Given the description of an element on the screen output the (x, y) to click on. 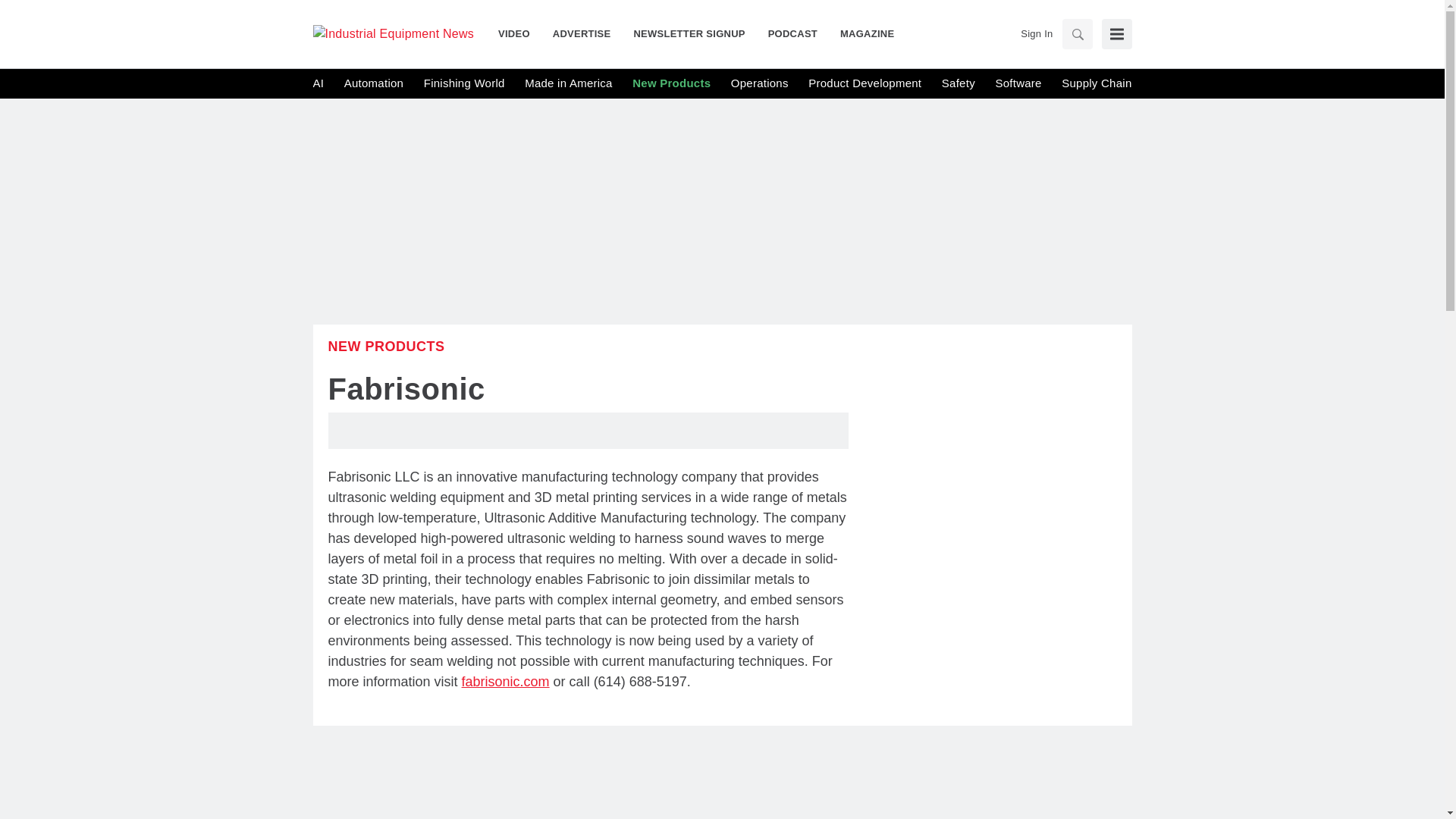
New Products (385, 346)
VIDEO (519, 33)
Sign In (1036, 33)
Safety (958, 83)
Operations (759, 83)
Software (1017, 83)
Made in America (567, 83)
New Products (670, 83)
NEWSLETTER SIGNUP (688, 33)
Product Development (864, 83)
PODCAST (792, 33)
Automation (373, 83)
AI (318, 83)
ADVERTISE (582, 33)
Finishing World (464, 83)
